Given the description of an element on the screen output the (x, y) to click on. 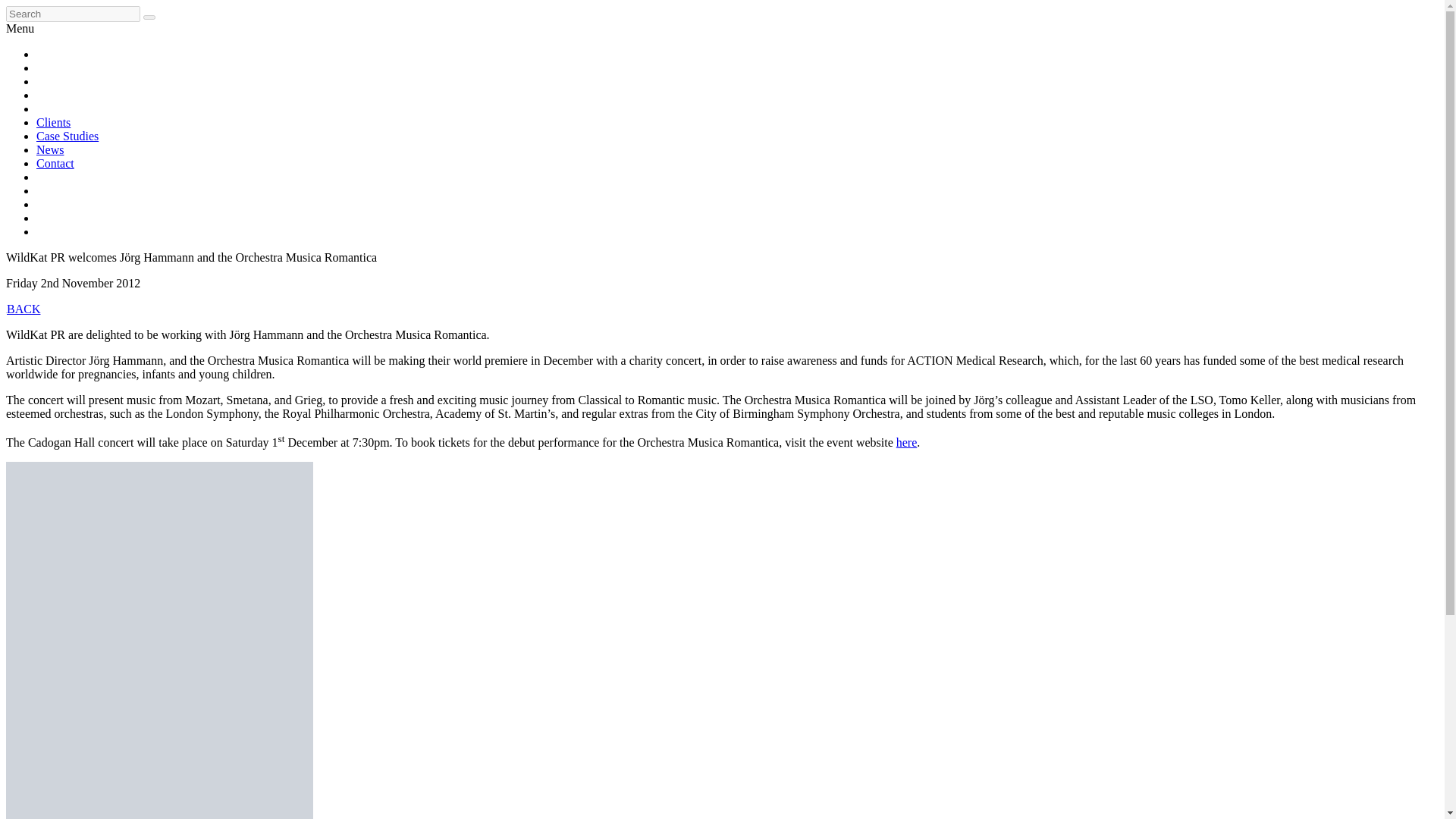
News (50, 149)
Contact (55, 163)
BACK (22, 308)
here (906, 441)
Clients (52, 122)
Case Studies (67, 135)
